Given the description of an element on the screen output the (x, y) to click on. 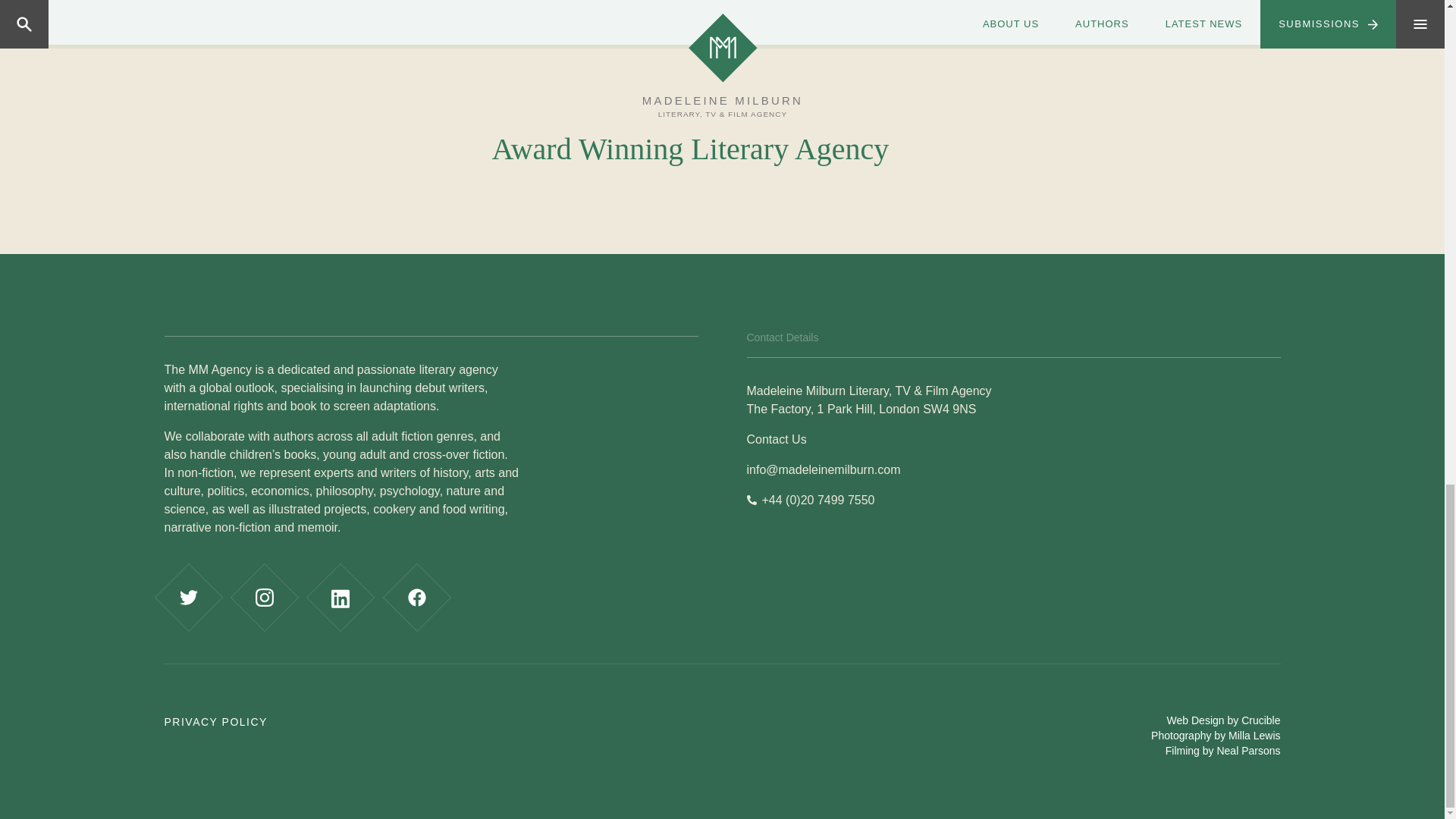
Photography by Milla Lewis (1215, 735)
Filming by Neal Parsons (1223, 750)
Contact Us (775, 439)
PRIVACY POLICY (214, 721)
Web Design by Crucible (1224, 720)
